Given the description of an element on the screen output the (x, y) to click on. 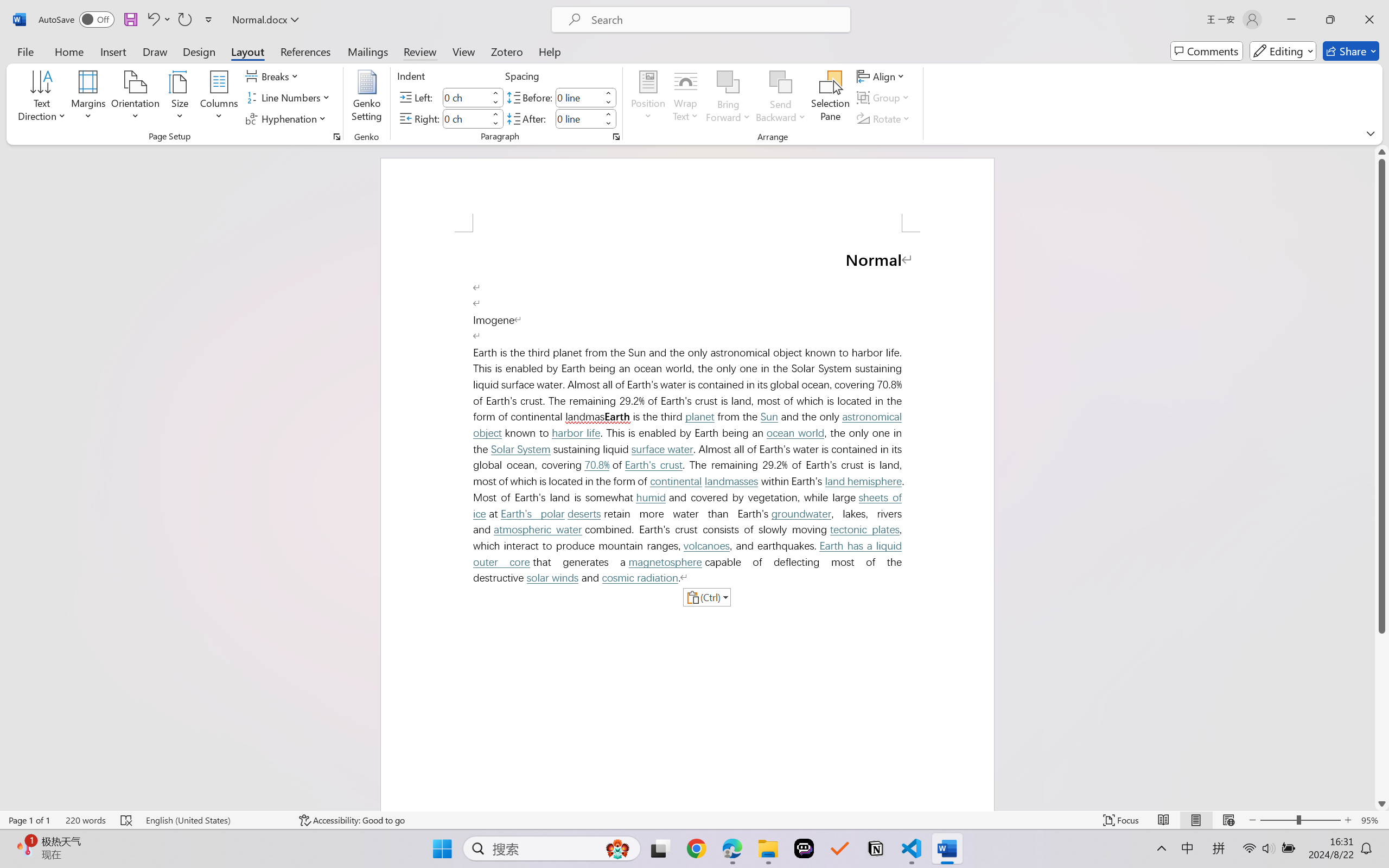
Spacing Before (578, 96)
Send Backward (781, 97)
harbor life (575, 433)
